Given the description of an element on the screen output the (x, y) to click on. 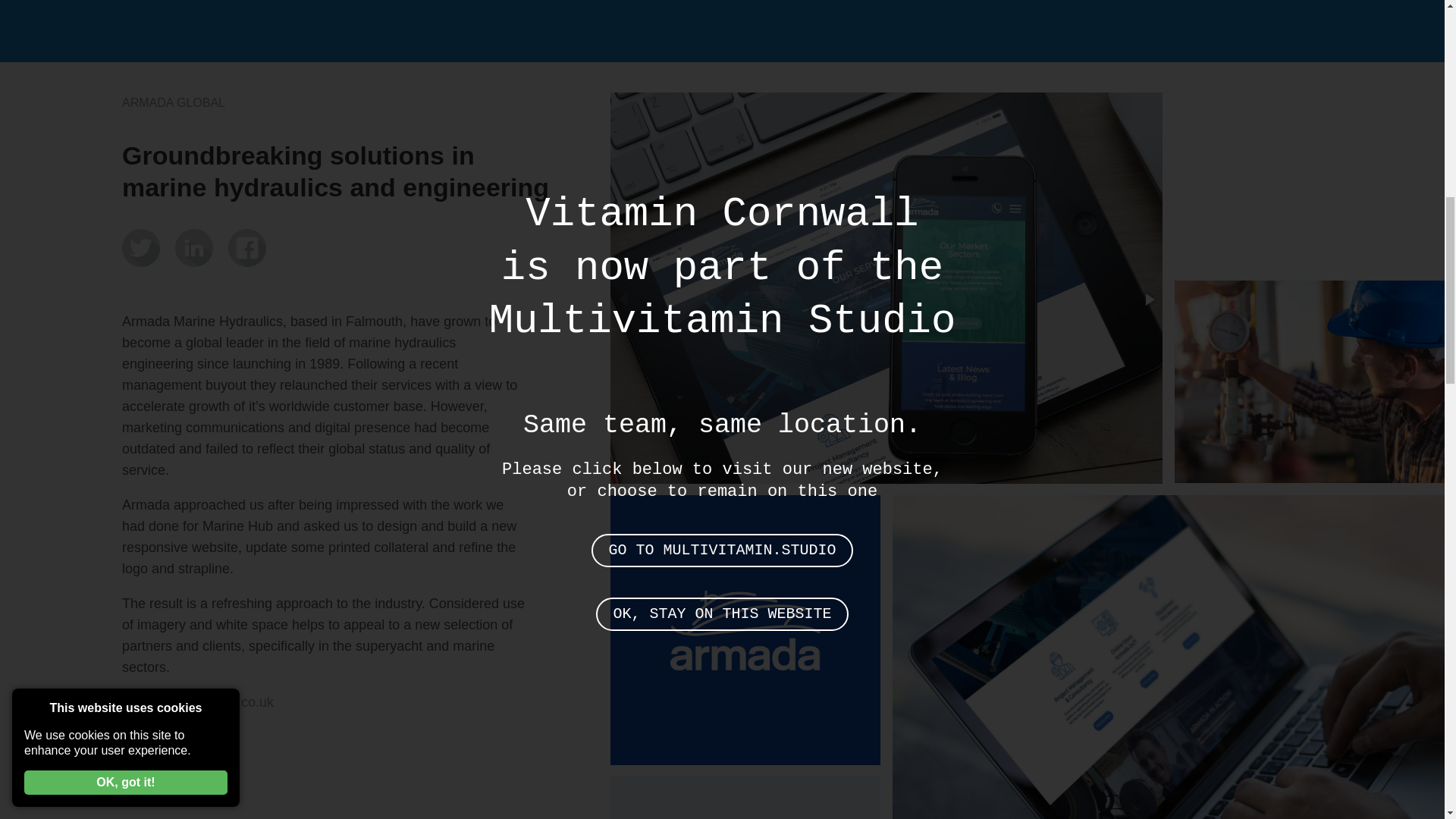
www.armadaglobal.co.uk (197, 702)
